Given the description of an element on the screen output the (x, y) to click on. 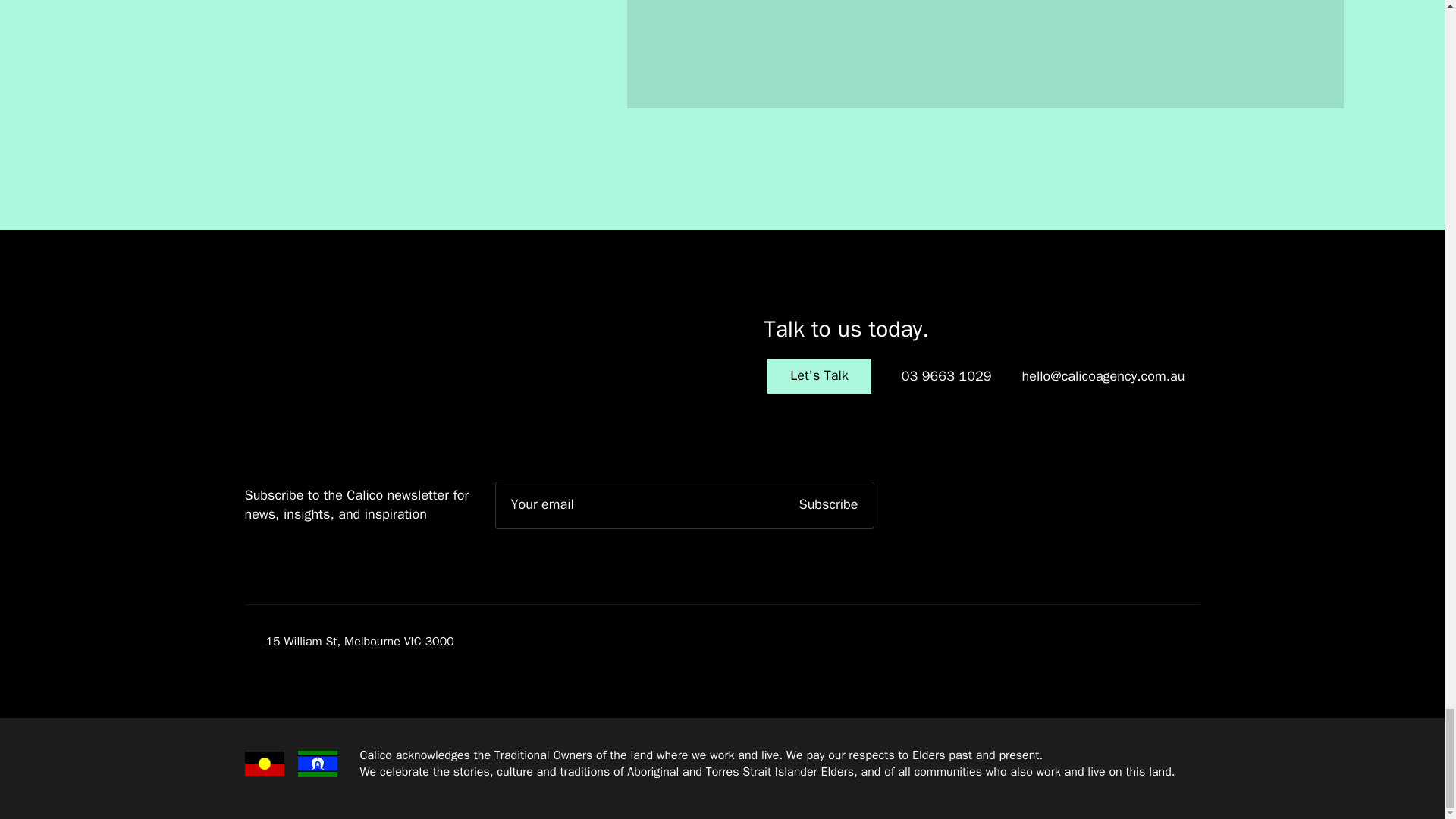
Let's Talk (721, 54)
Subscribe (818, 375)
Let's Talk (828, 504)
15 William St, Melbourne VIC 3000 (818, 375)
03 9663 1029 (348, 641)
Melbourne's leading Digital Agency - Calico (946, 376)
03 9663 1029 (323, 355)
